Given the description of an element on the screen output the (x, y) to click on. 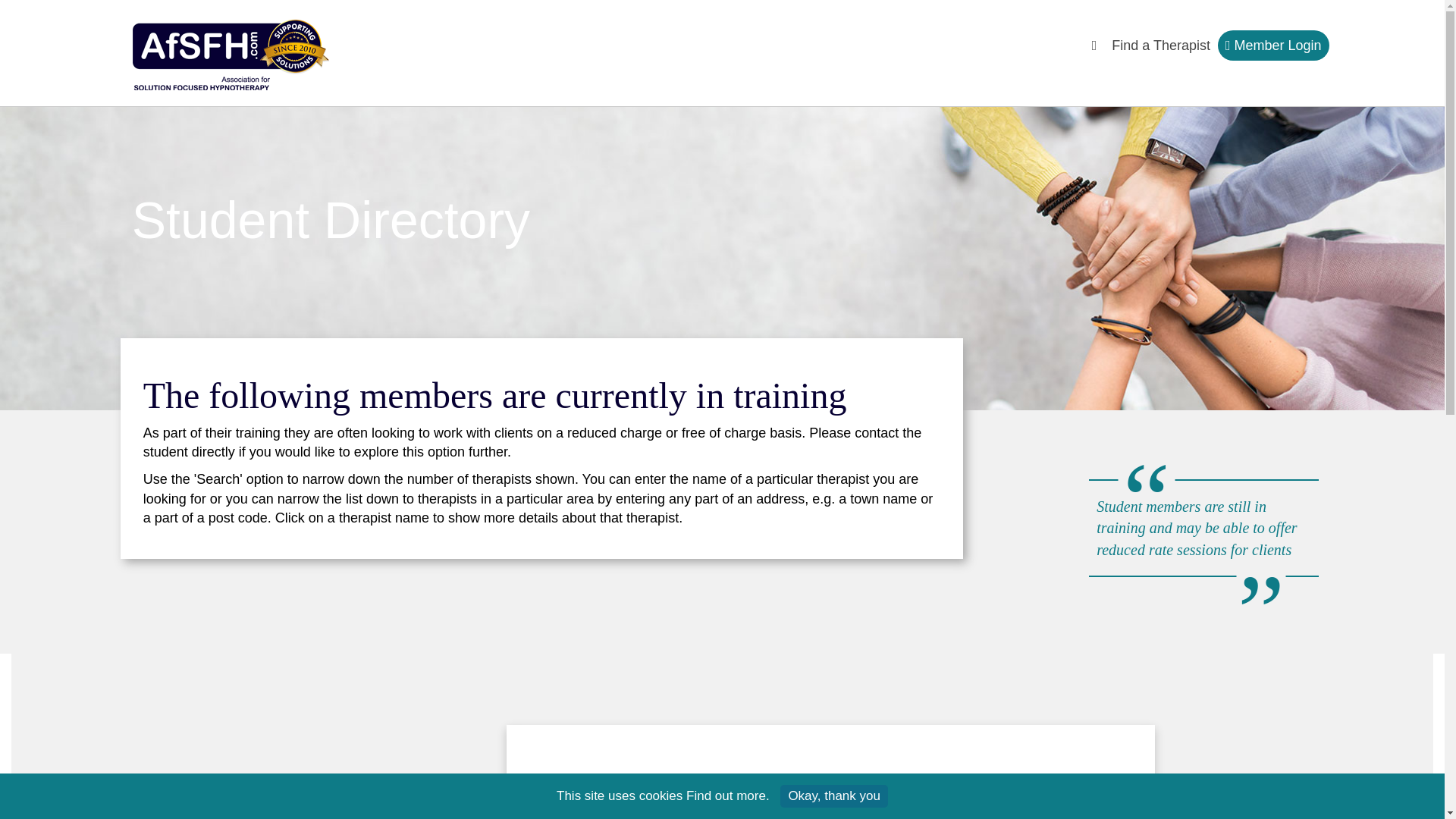
Find a Therapist (1160, 48)
Find a Therapist (1160, 48)
AfSFH (234, 53)
Member Login (1273, 45)
